Given the description of an element on the screen output the (x, y) to click on. 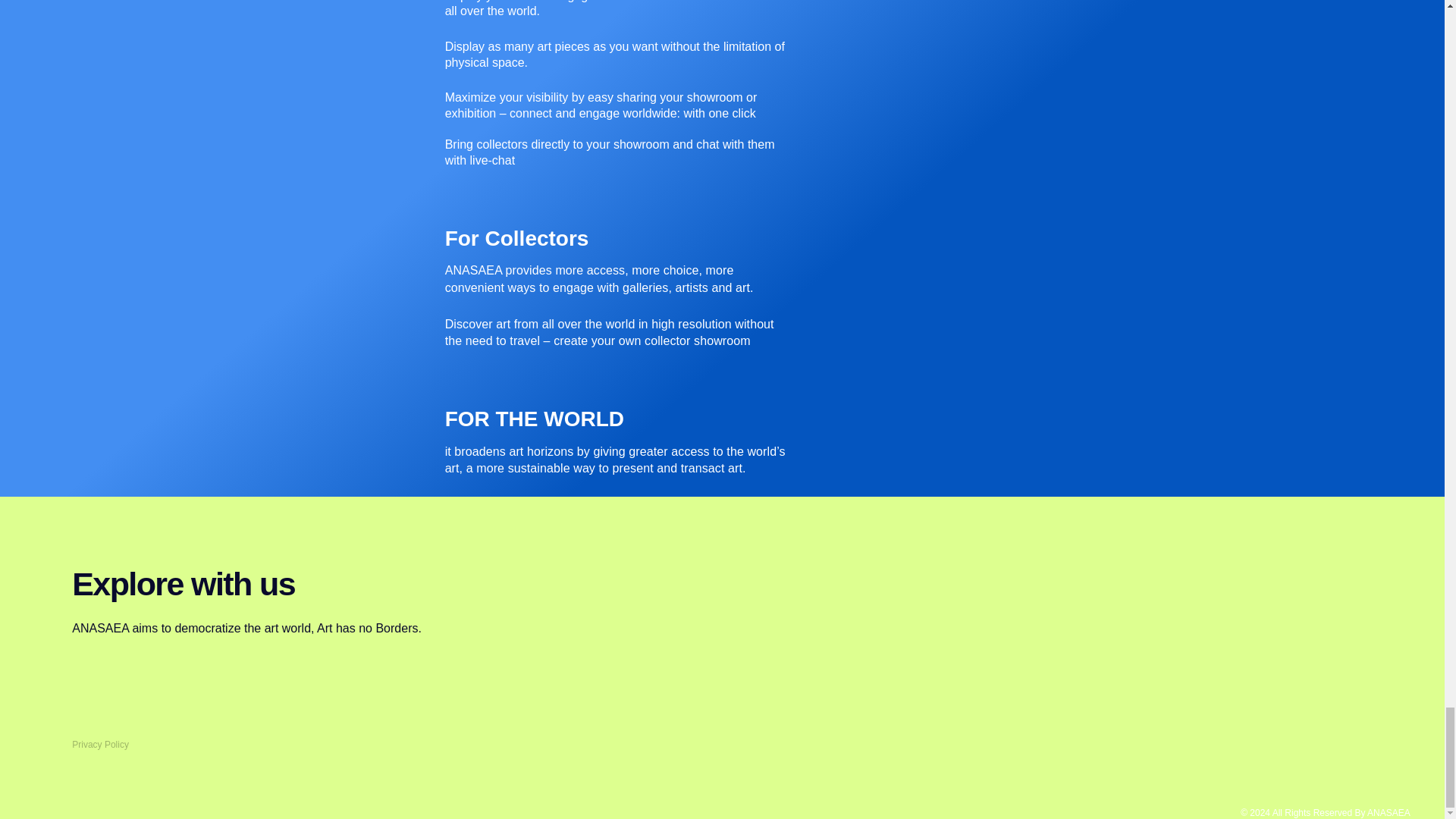
Page 4 (617, 460)
Privacy Policy (100, 744)
Page 4 (617, 305)
Page 4 (617, 84)
